Given the description of an element on the screen output the (x, y) to click on. 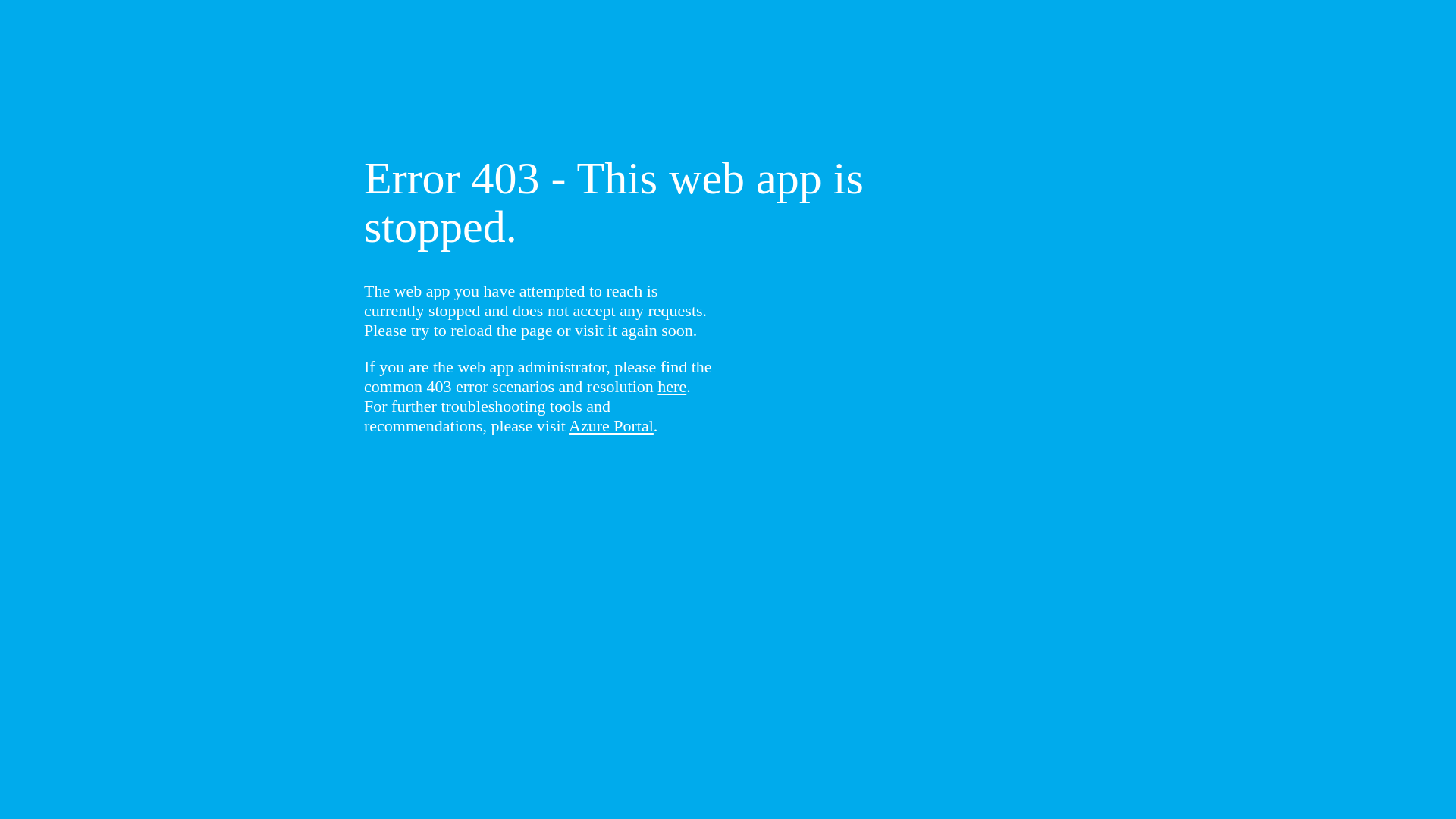
Azure Portal Element type: text (610, 425)
here Element type: text (671, 385)
